Given the description of an element on the screen output the (x, y) to click on. 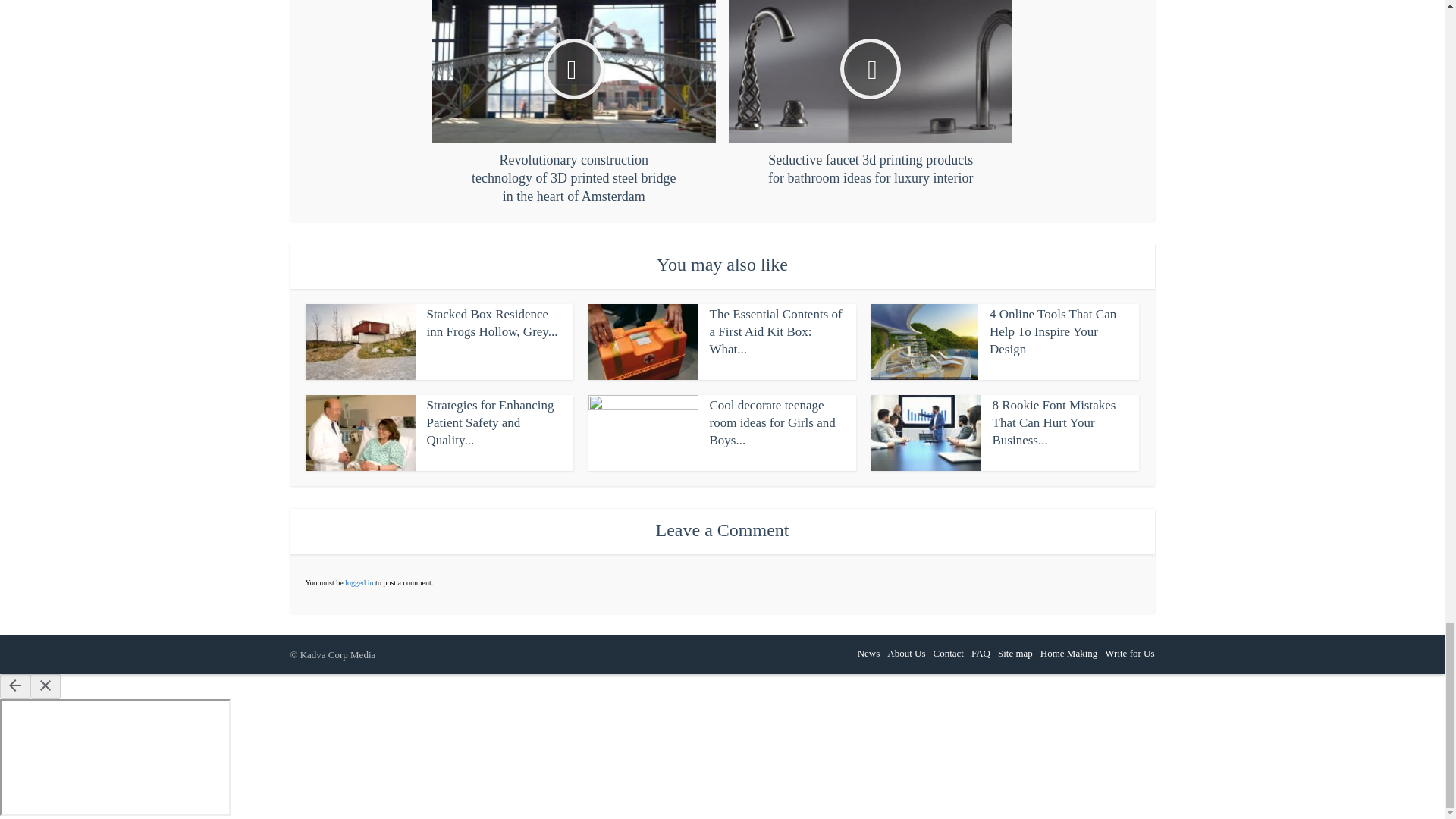
Stacked Box Residence inn Frogs Hollow, Grey... (491, 323)
Strategies for Enhancing Patient Safety and Quality... (489, 422)
The Essential Contents of a First Aid Kit Box: What... (776, 331)
8 Rookie Font Mistakes That Can Hurt Your Business... (1053, 422)
4 Online Tools That Can Help To Inspire Your Design (1053, 331)
